Given the description of an element on the screen output the (x, y) to click on. 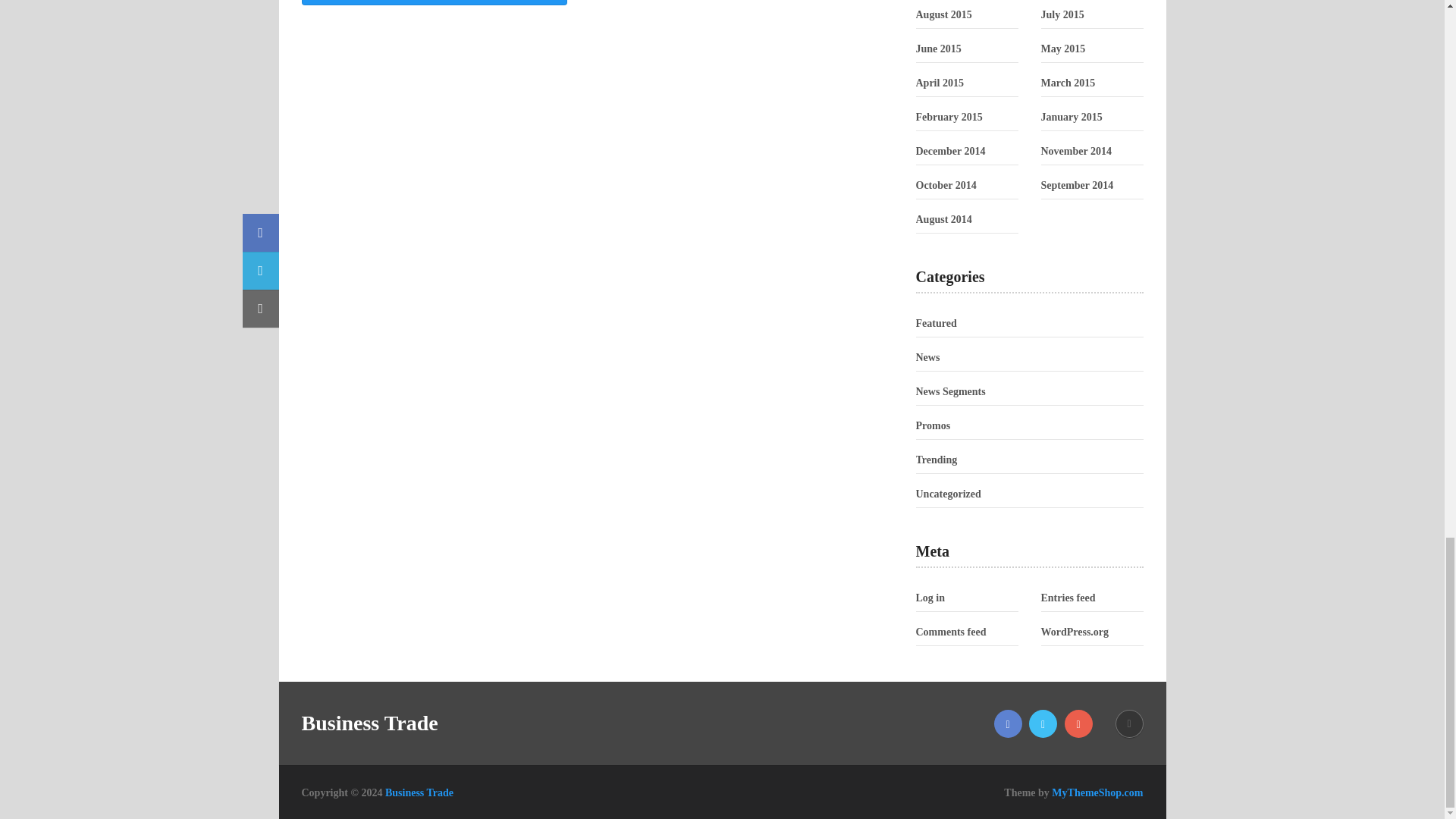
Submit Your Comment (434, 2)
Submit Your Comment (434, 2)
